Given the description of an element on the screen output the (x, y) to click on. 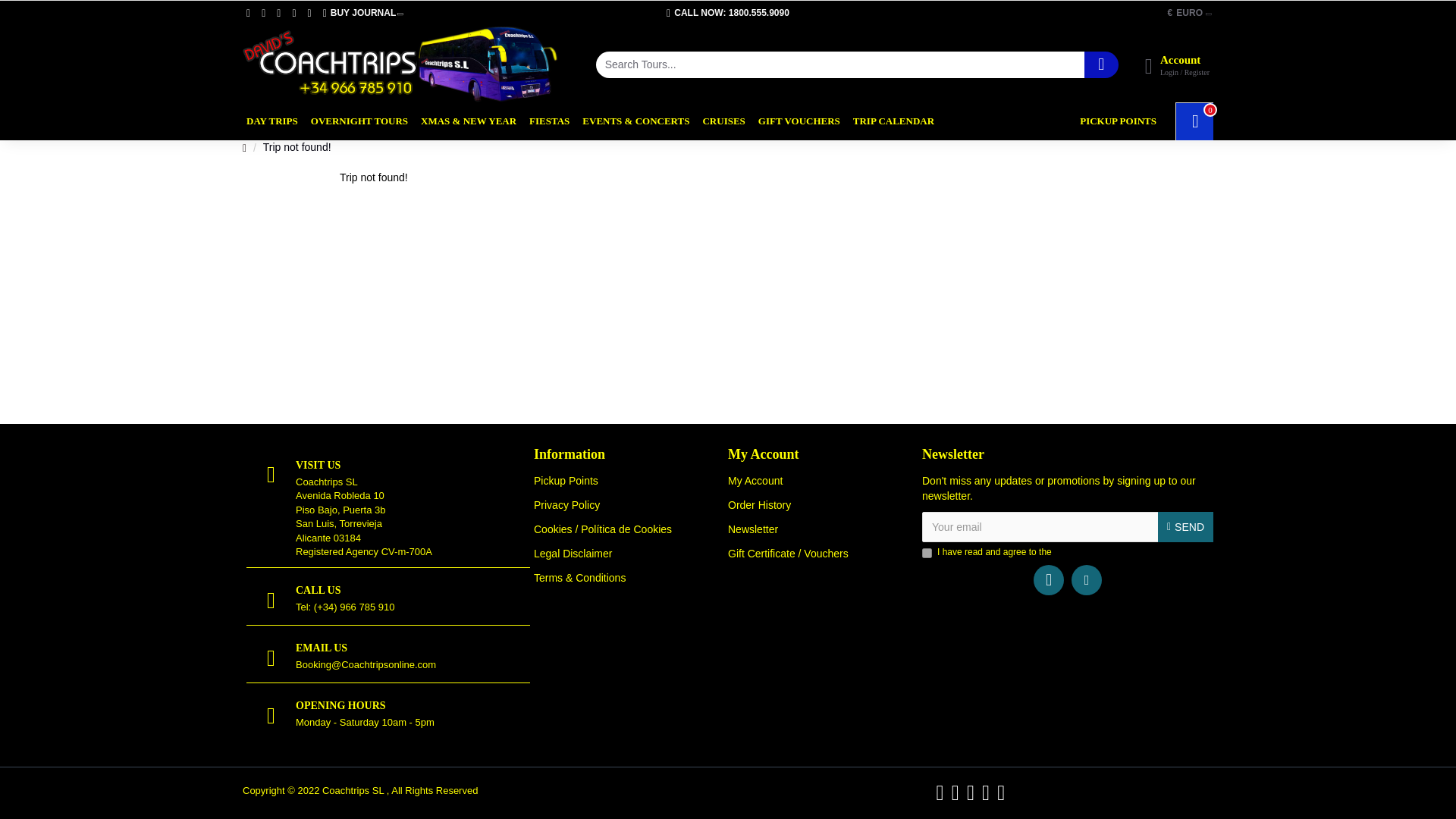
Facebook (1048, 580)
Instagram (1086, 580)
GIFT VOUCHERS (799, 121)
CALL NOW: 1800.555.9090 (727, 13)
1 (926, 552)
FIESTAS (549, 121)
TRIP CALENDAR (892, 121)
Trip not found! (297, 147)
DAY TRIPS (272, 121)
OVERNIGHT TOURS (359, 121)
PICKUP POINTS (1117, 121)
CRUISES (723, 121)
BUY JOURNAL (362, 13)
David's Coach Trips (400, 64)
0 (1194, 121)
